Given the description of an element on the screen output the (x, y) to click on. 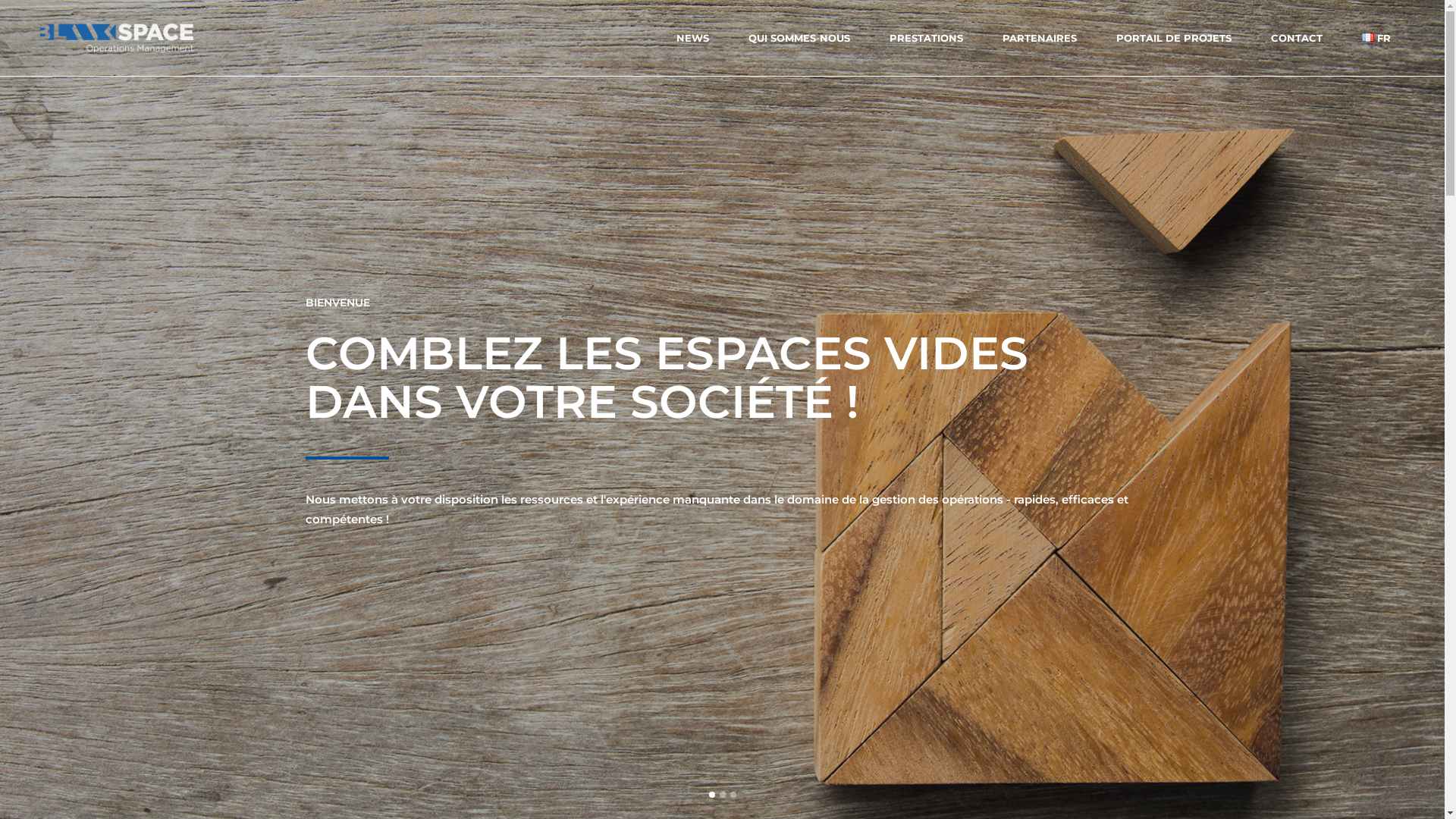
PARTENAIRES Element type: text (1039, 37)
NEWS Element type: text (692, 37)
CONTACT Element type: text (1296, 37)
FR Element type: text (1375, 37)
PORTAIL DE PROJETS Element type: text (1173, 37)
QUI SOMMES-NOUS Element type: text (799, 37)
home-blank-space-start-doing Element type: hover (540, 600)
PRESTATIONS Element type: text (926, 37)
